Given the description of an element on the screen output the (x, y) to click on. 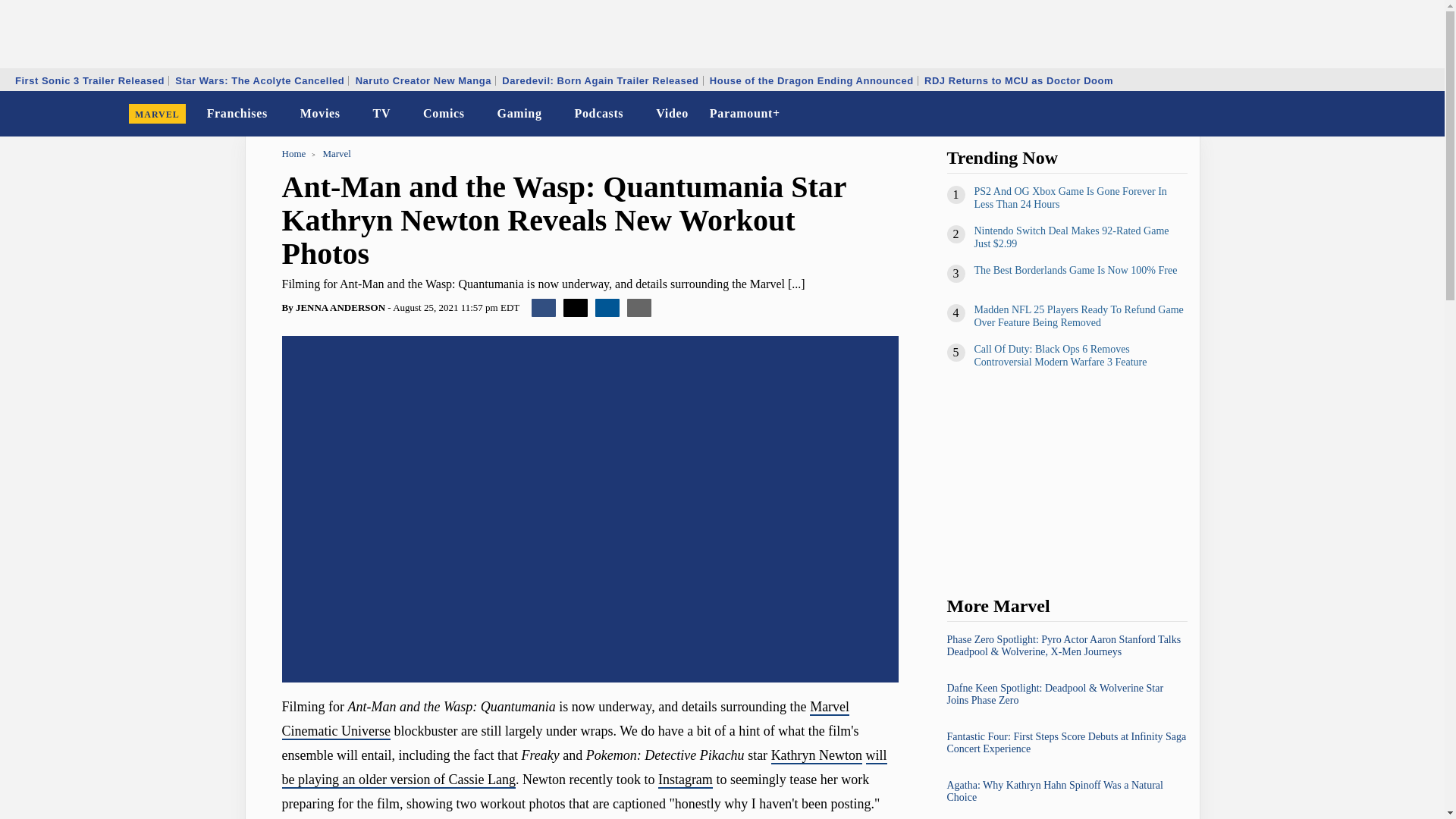
House of the Dragon Ending Announced (811, 80)
MARVEL (157, 113)
Search (1422, 114)
Dark Mode (1394, 113)
Star Wars: The Acolyte Cancelled (259, 80)
Comics (443, 113)
Movies (320, 113)
First Sonic 3 Trailer Released (89, 80)
Naruto Creator New Manga (423, 80)
Daredevil: Born Again Trailer Released (599, 80)
